Given the description of an element on the screen output the (x, y) to click on. 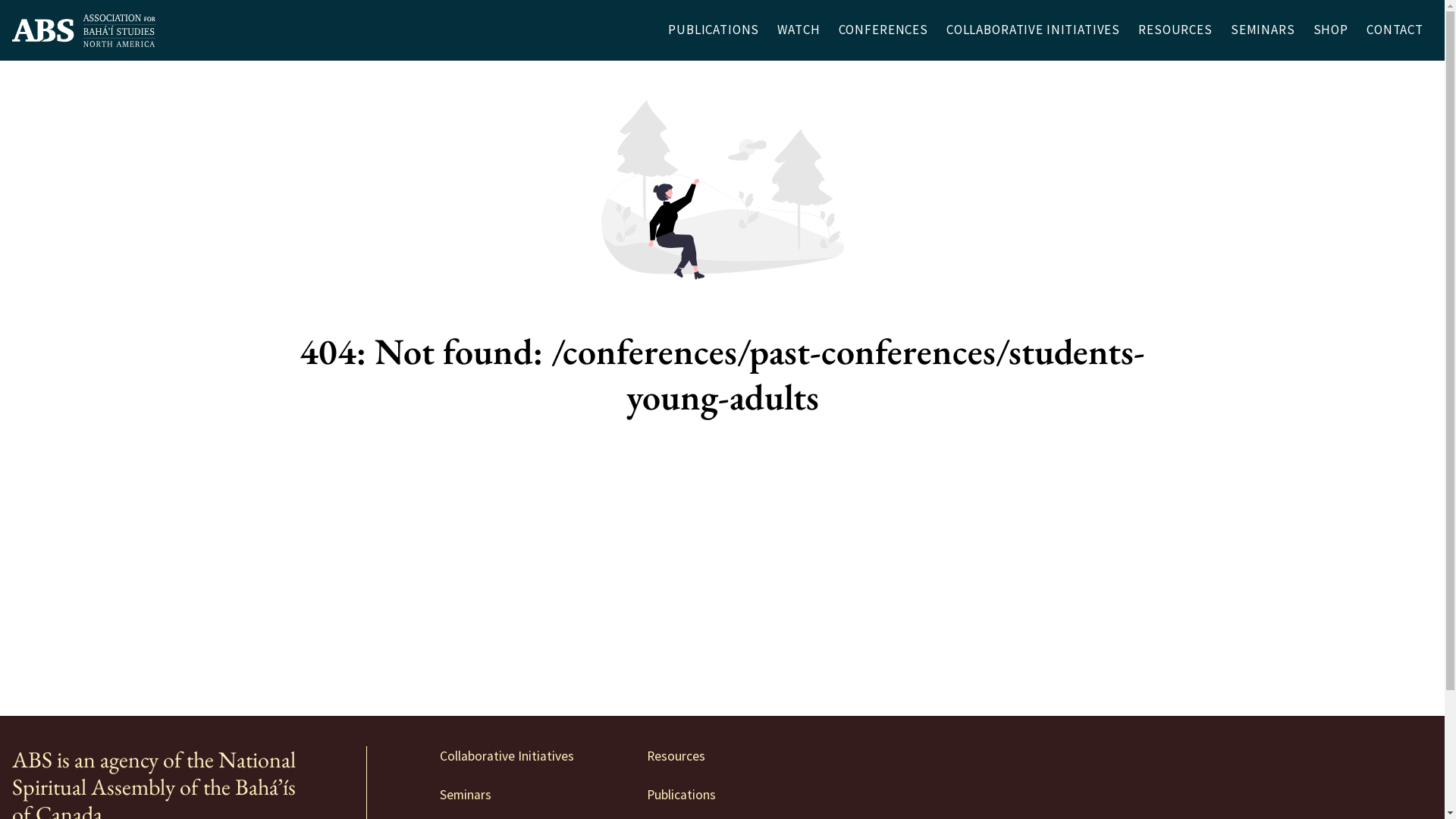
Collaborative Initiatives Element type: text (506, 755)
Seminars Element type: text (465, 793)
COLLABORATIVE INITIATIVES Element type: text (1033, 30)
PUBLICATIONS Element type: text (713, 30)
SHOP Element type: text (1330, 30)
Publications Element type: text (680, 793)
SEMINARS Element type: text (1262, 30)
RESOURCES Element type: text (1175, 30)
CONFERENCES Element type: text (883, 30)
WATCH Element type: text (798, 30)
CONTACT Element type: text (1394, 30)
Resources Element type: text (675, 755)
